Given the description of an element on the screen output the (x, y) to click on. 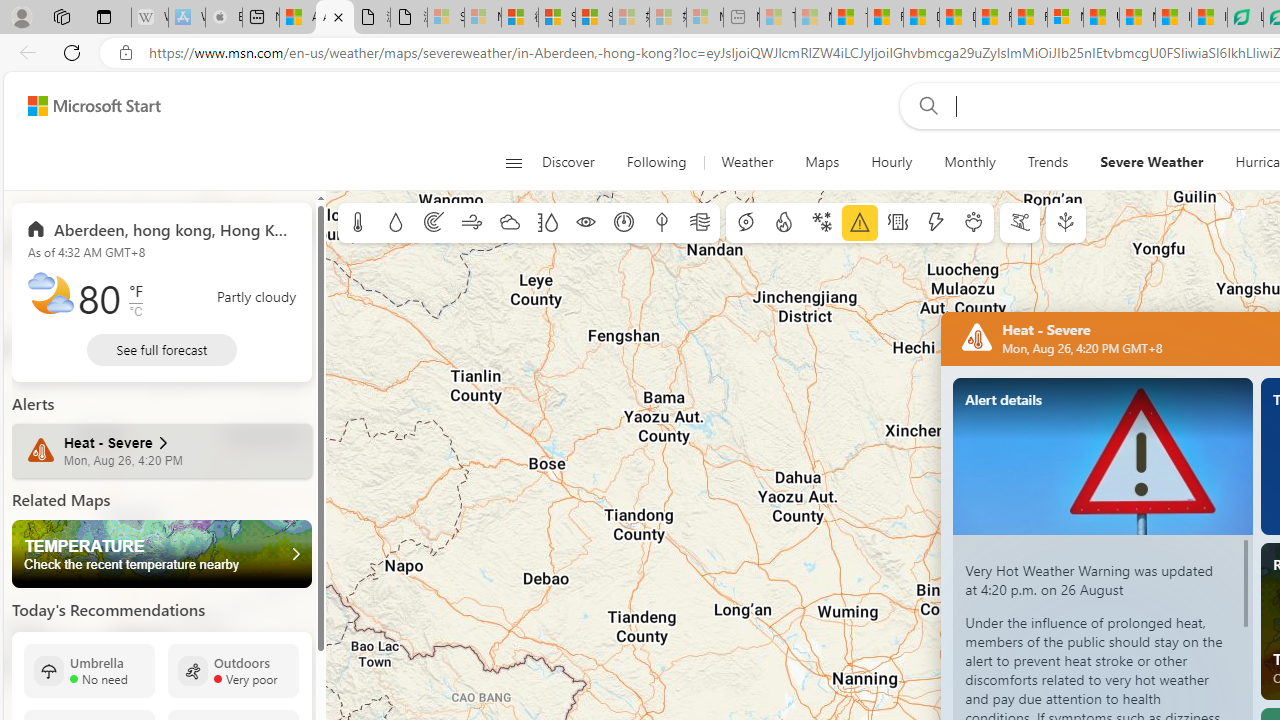
Pollen (974, 223)
Visibility (586, 223)
Trends (1048, 162)
Weather (747, 162)
Temperature (358, 223)
Earthquake (898, 223)
Temperature Check the recent temperature nearby (161, 553)
Microsoft account | Account Checkup - Sleeping (705, 17)
Trends (1047, 162)
LendingTree - Compare Lenders (1245, 17)
Monthly (970, 162)
